Given the description of an element on the screen output the (x, y) to click on. 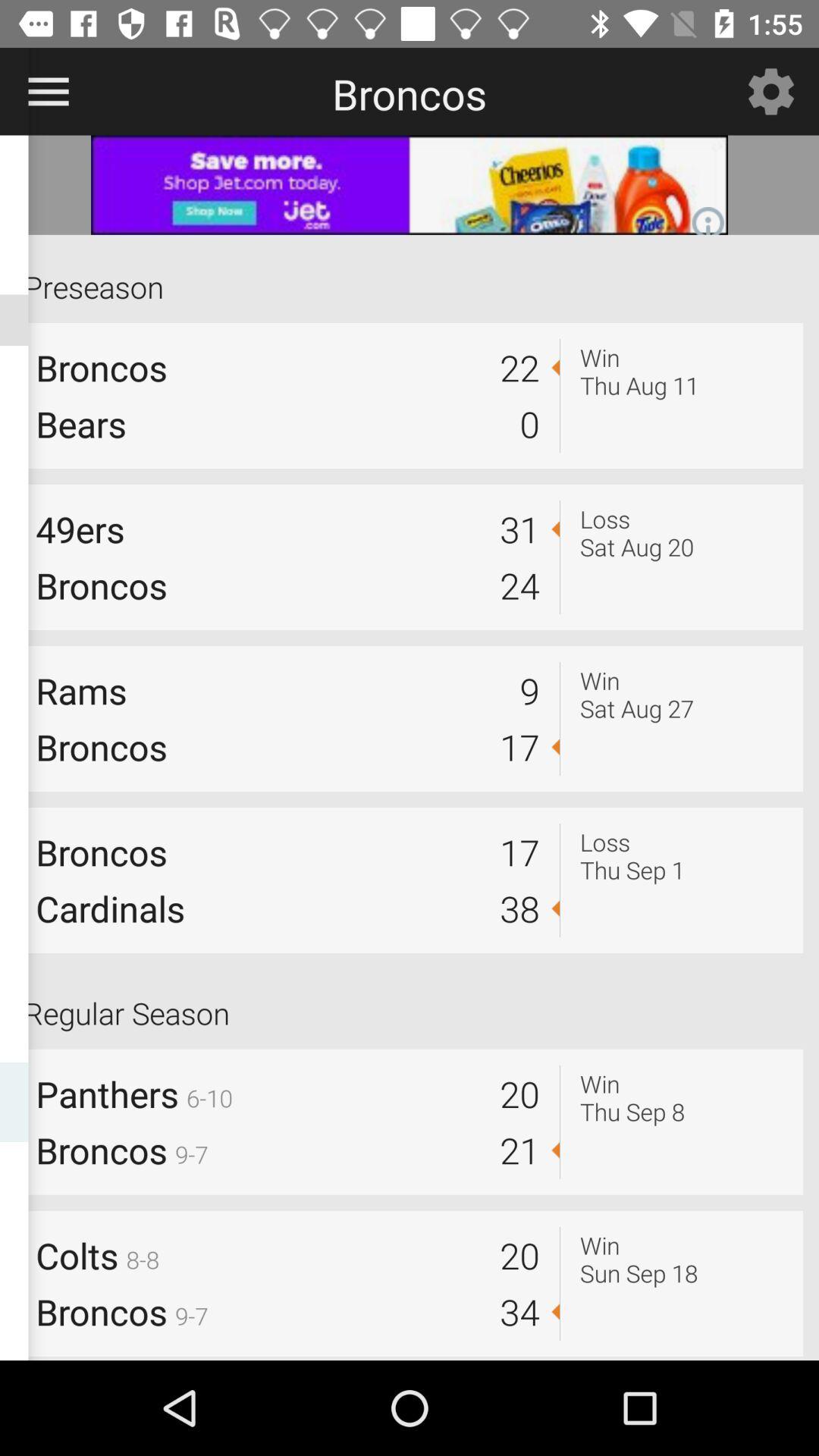
banner advertisement (409, 184)
